Given the description of an element on the screen output the (x, y) to click on. 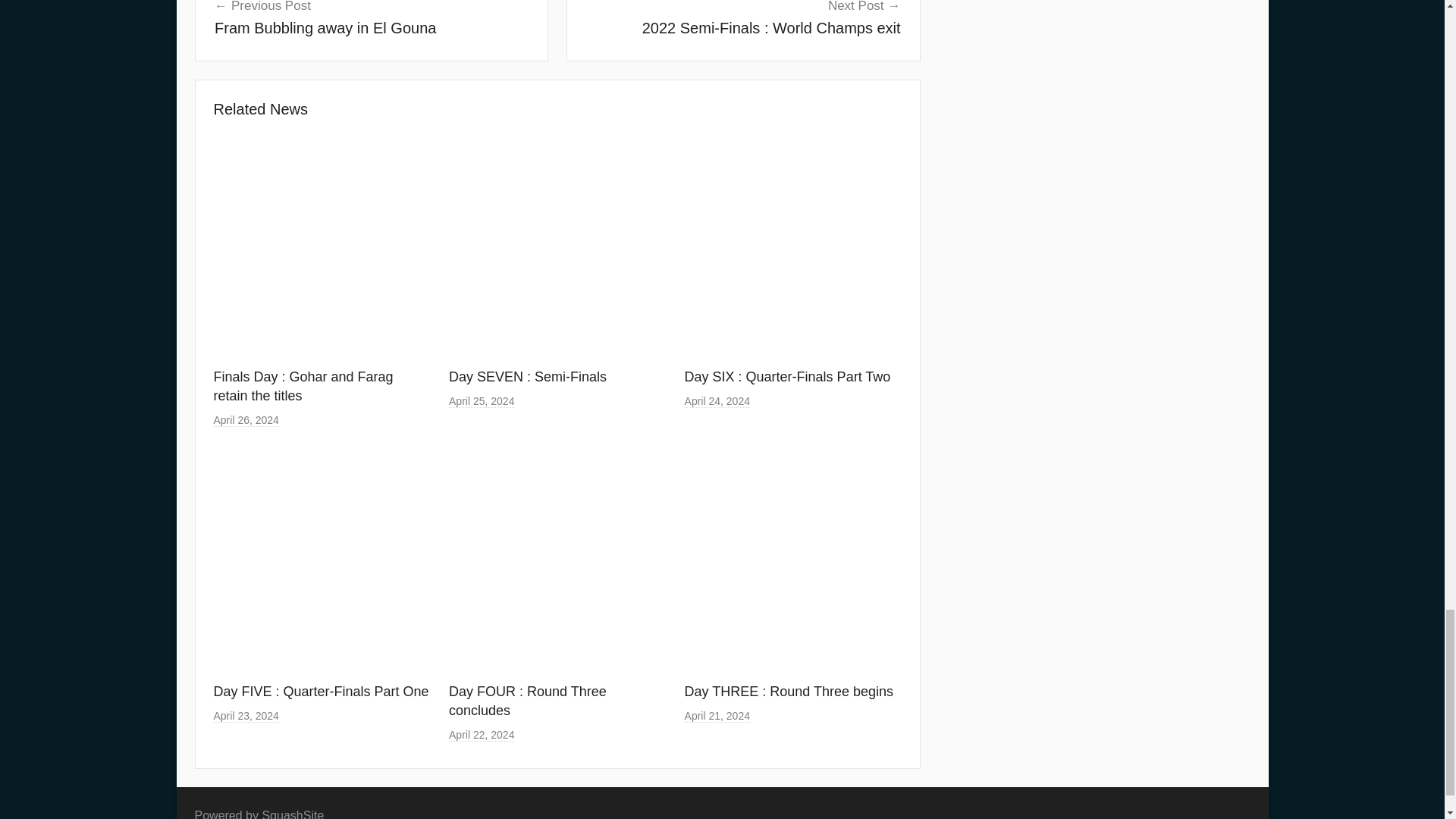
Day FOUR : Round Three concludes (527, 700)
April 24, 2024 (716, 400)
April 26, 2024 (246, 420)
Day SEVEN : Semi-Finals (527, 376)
11:19 am (246, 420)
Finals Day : Gohar and Farag retain the titles (303, 386)
April 23, 2024 (246, 716)
10:20 am (716, 716)
April 25, 2024 (480, 400)
Day SIX : Quarter-Finals Part Two (787, 376)
8:41 am (371, 19)
2:08 pm (480, 735)
2:10 pm (743, 19)
